Given the description of an element on the screen output the (x, y) to click on. 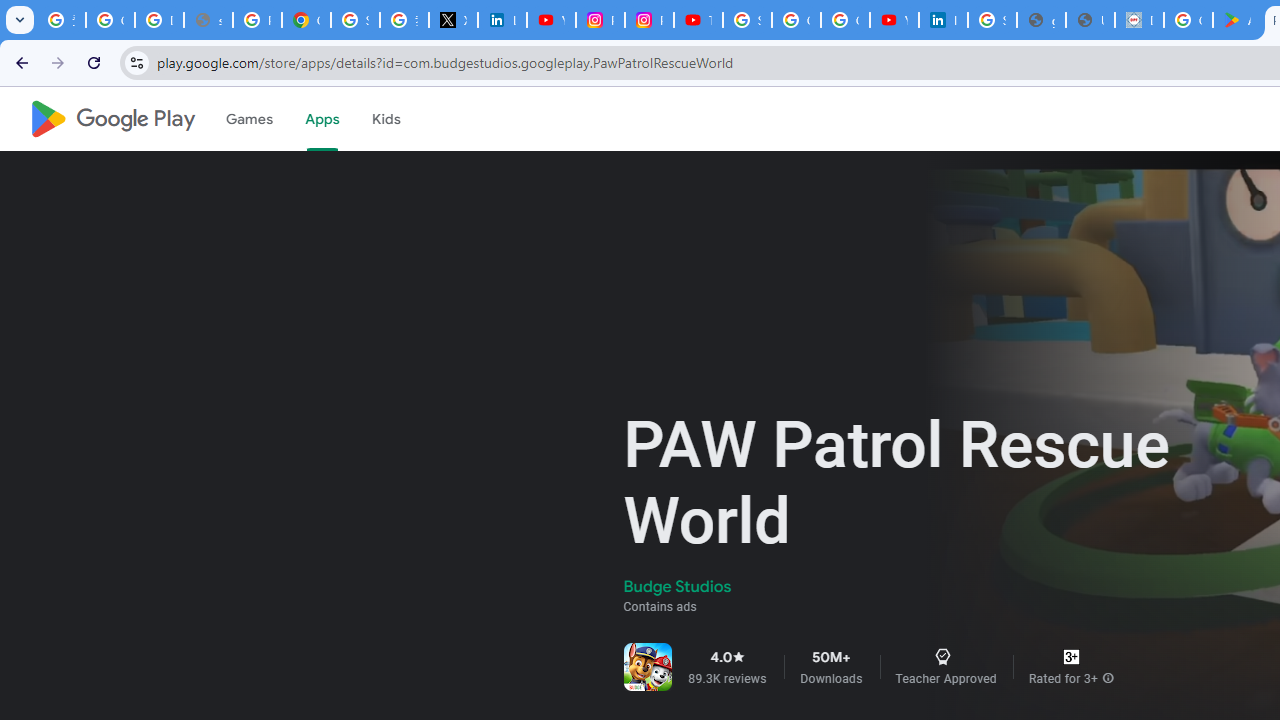
Sign in - Google Accounts (355, 20)
YouTube Content Monetization Policies - How YouTube Works (551, 20)
LinkedIn Privacy Policy (502, 20)
Google Play logo (111, 119)
Content rating (1071, 656)
